Given the description of an element on the screen output the (x, y) to click on. 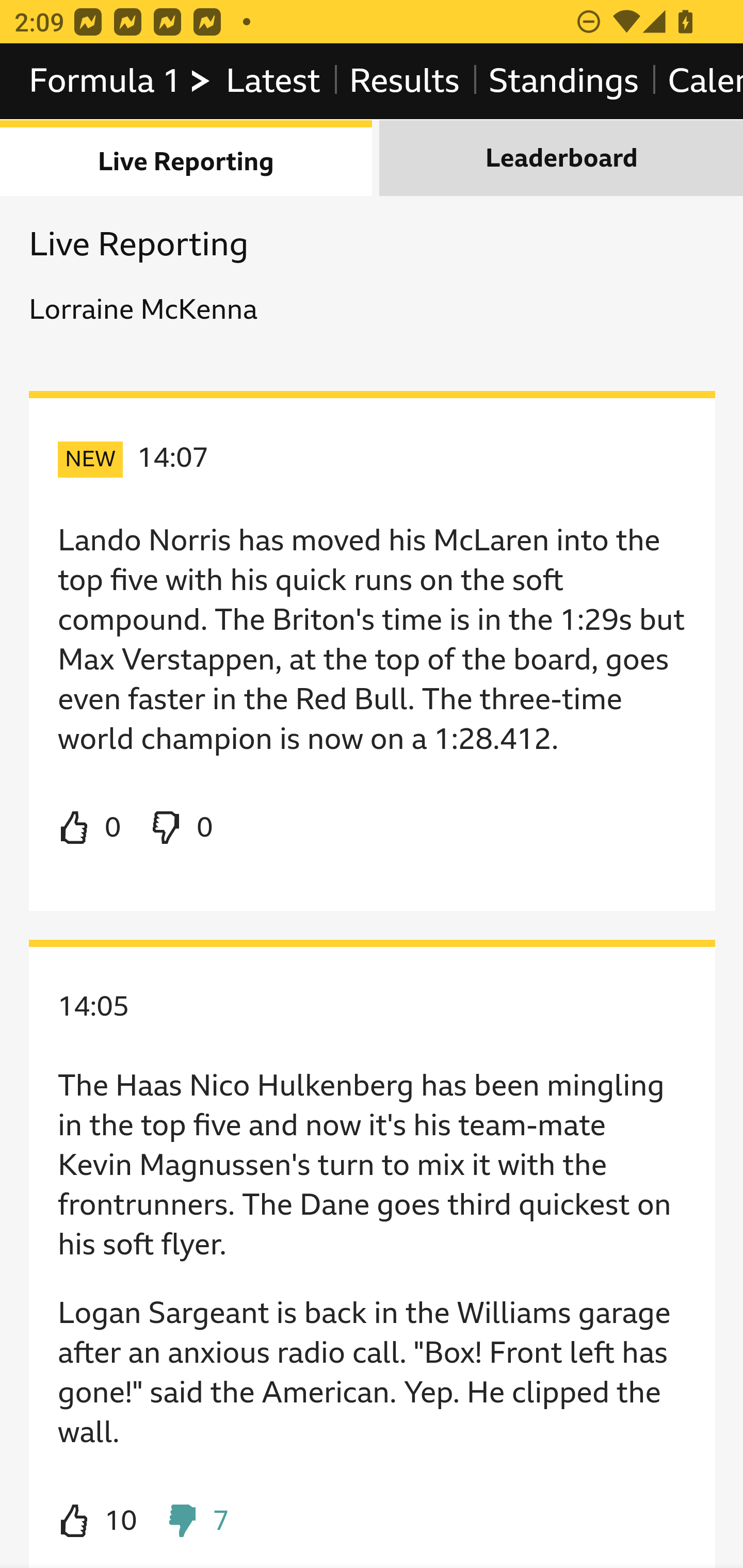
Live Reporting (186, 159)
Leaderboard (560, 159)
Like (89, 828)
Dislike (180, 828)
Like (97, 1521)
Disliked (196, 1521)
